Given the description of an element on the screen output the (x, y) to click on. 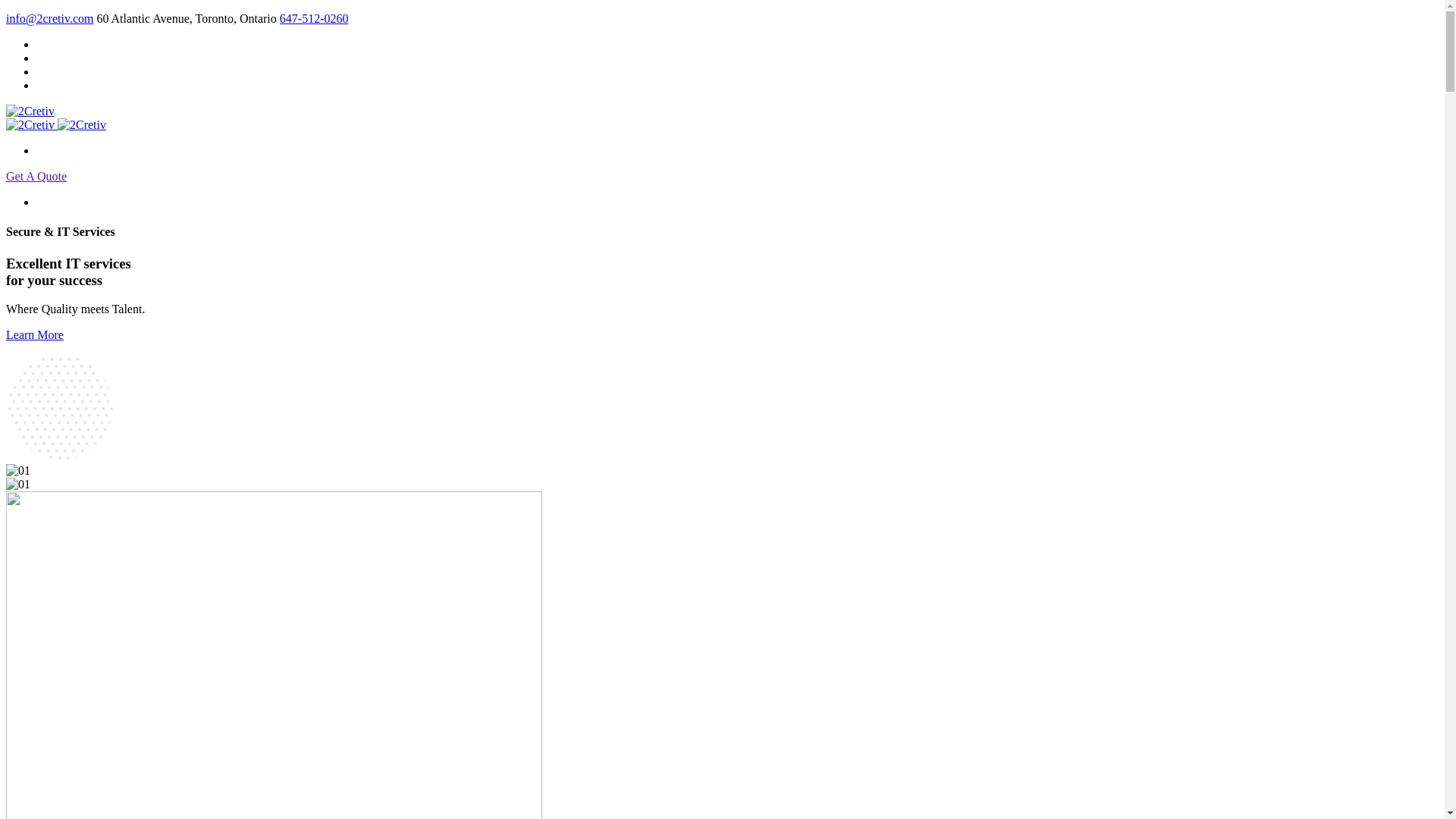
2Cretiv Element type: hover (30, 110)
2Cretiv Element type: hover (31, 124)
Learn More Element type: text (34, 334)
Get A Quote Element type: text (36, 175)
info@2cretiv.com Element type: text (49, 18)
2Cretiv Element type: hover (81, 124)
647-512-0260 Element type: text (313, 18)
